Given the description of an element on the screen output the (x, y) to click on. 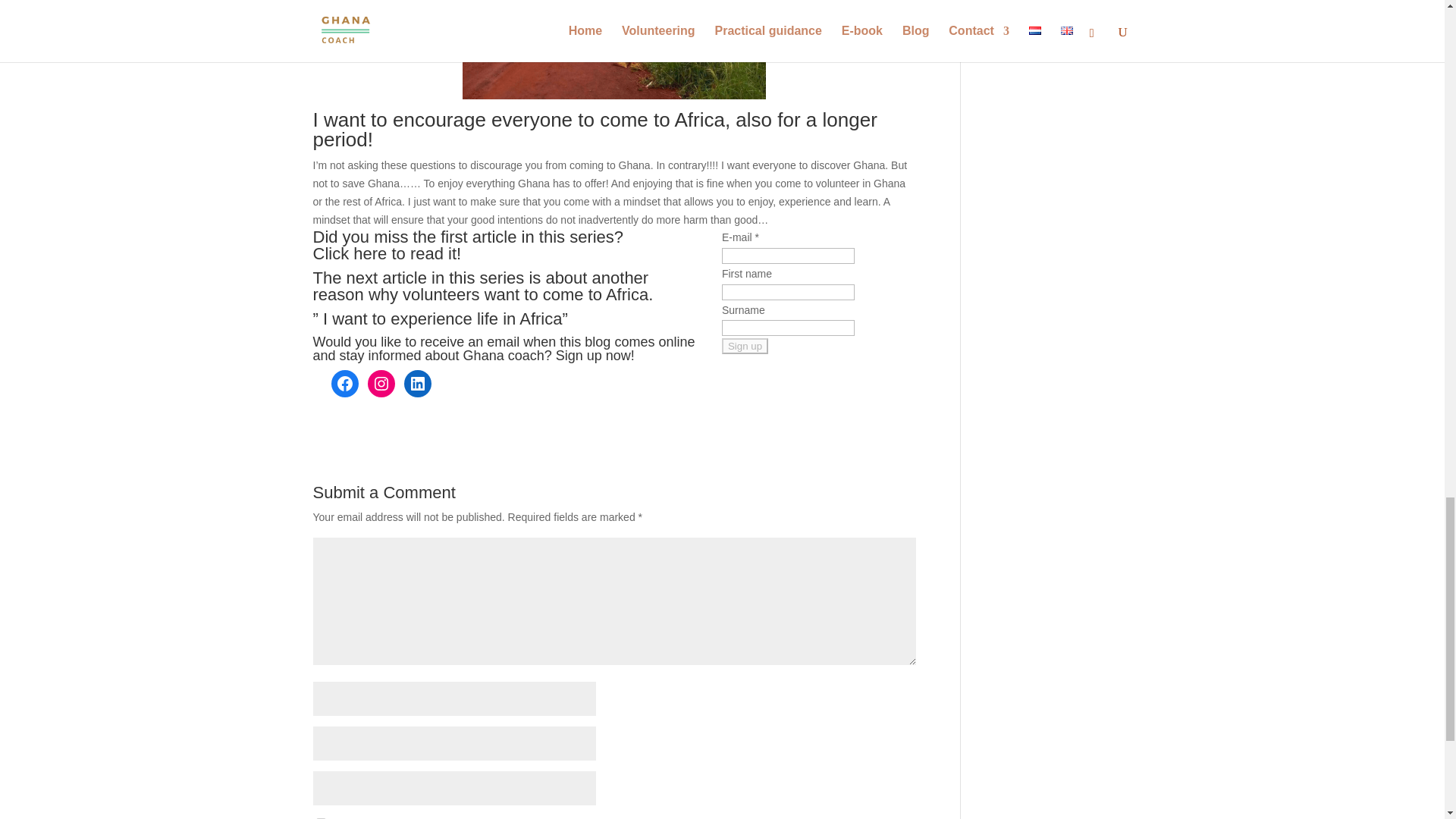
Sign up (745, 345)
LinkedIn (416, 383)
Click here to read it! (387, 253)
Instagram (380, 383)
Facebook (344, 383)
Sign up (745, 345)
